Given the description of an element on the screen output the (x, y) to click on. 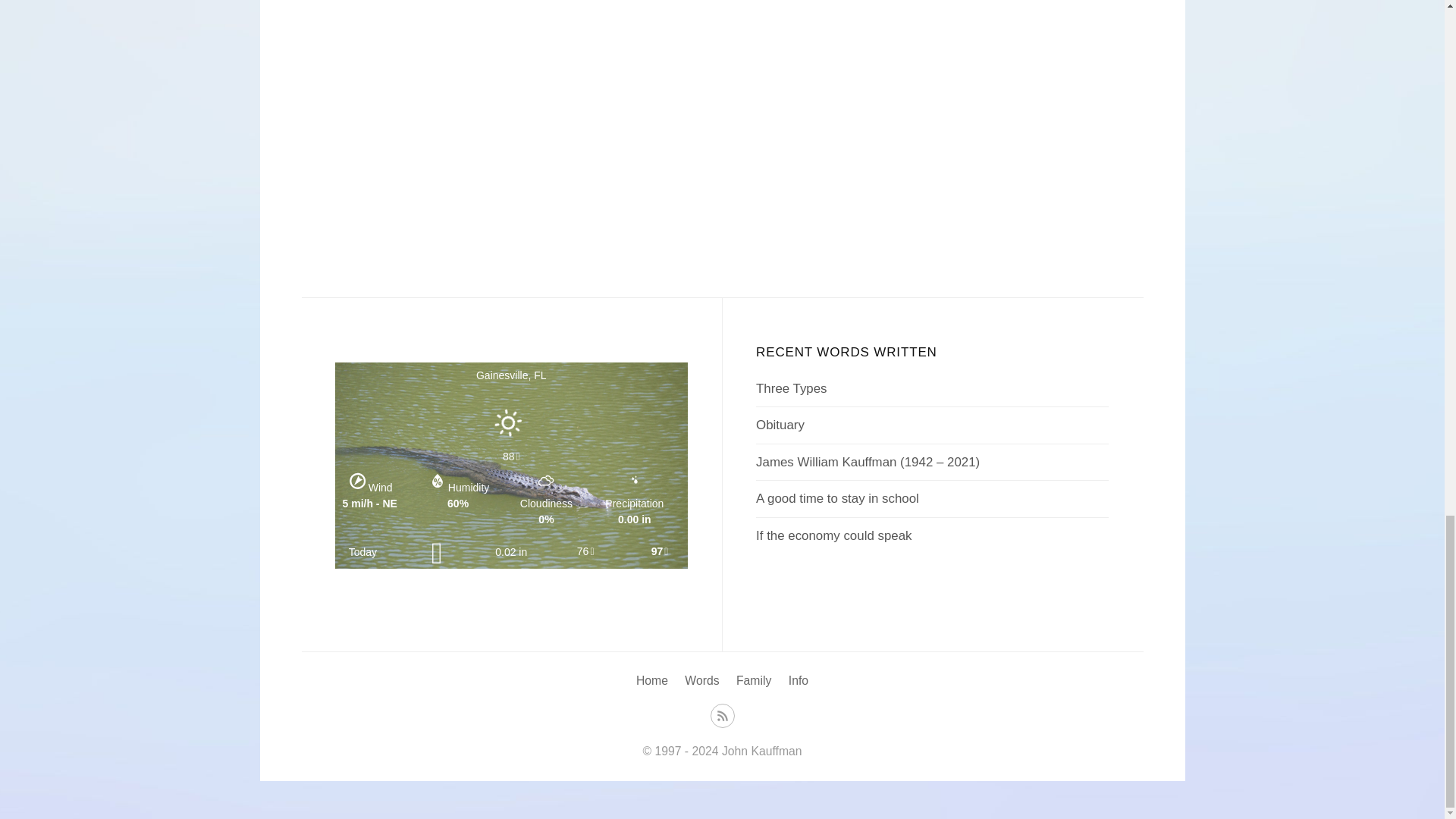
Clear Sky (510, 437)
Obituary (780, 424)
Humidity (437, 480)
RSS (721, 714)
If the economy could speak (833, 535)
Three Types (791, 388)
Family (753, 680)
Words (701, 680)
Cloudiness (545, 480)
Light Rain (436, 551)
